Given the description of an element on the screen output the (x, y) to click on. 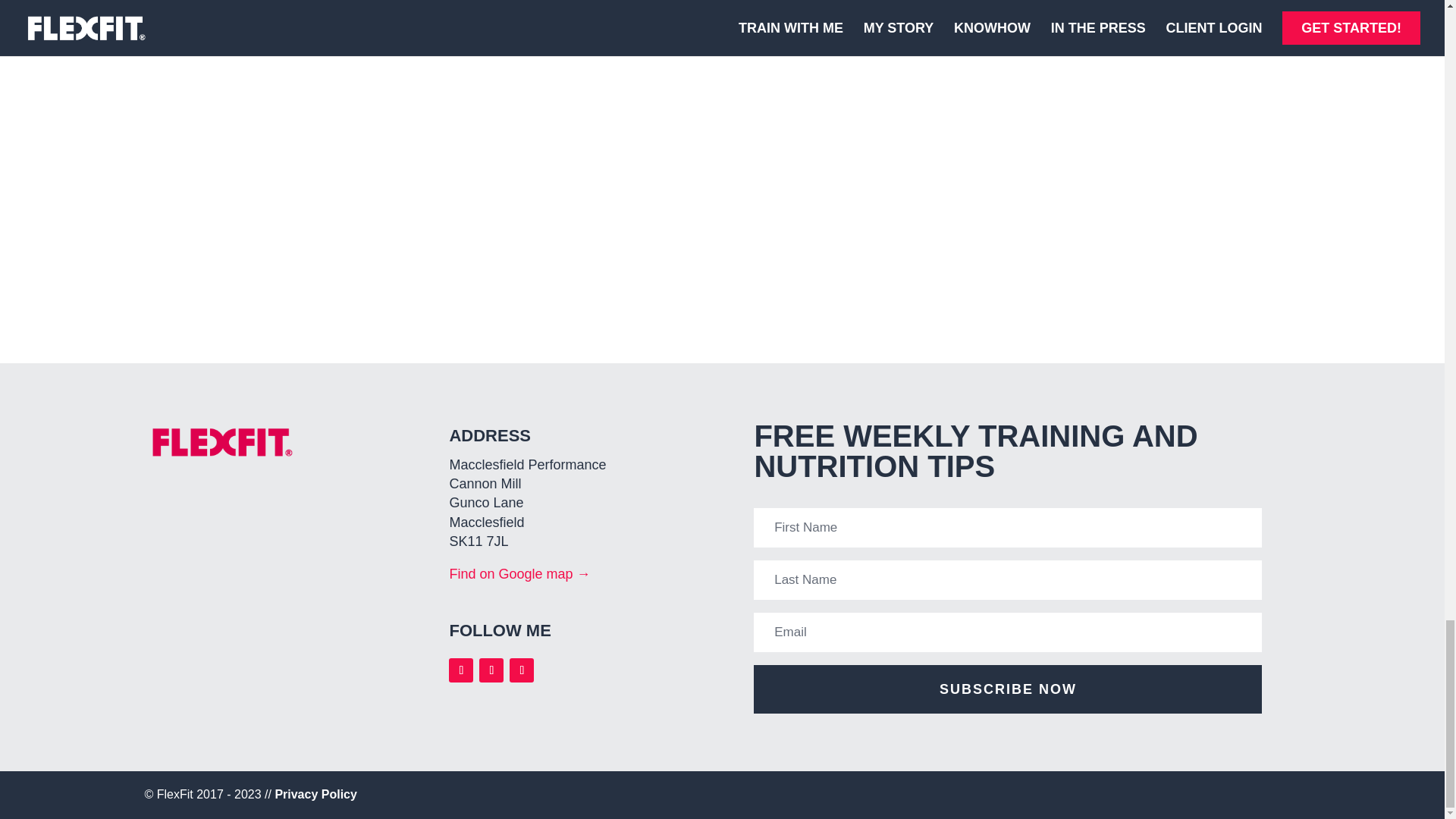
Follow on Instagram (460, 670)
Follow on Youtube (521, 670)
Follow on Facebook (491, 670)
SUBSCRIBE NOW (1008, 689)
Privacy Policy (315, 793)
